Given the description of an element on the screen output the (x, y) to click on. 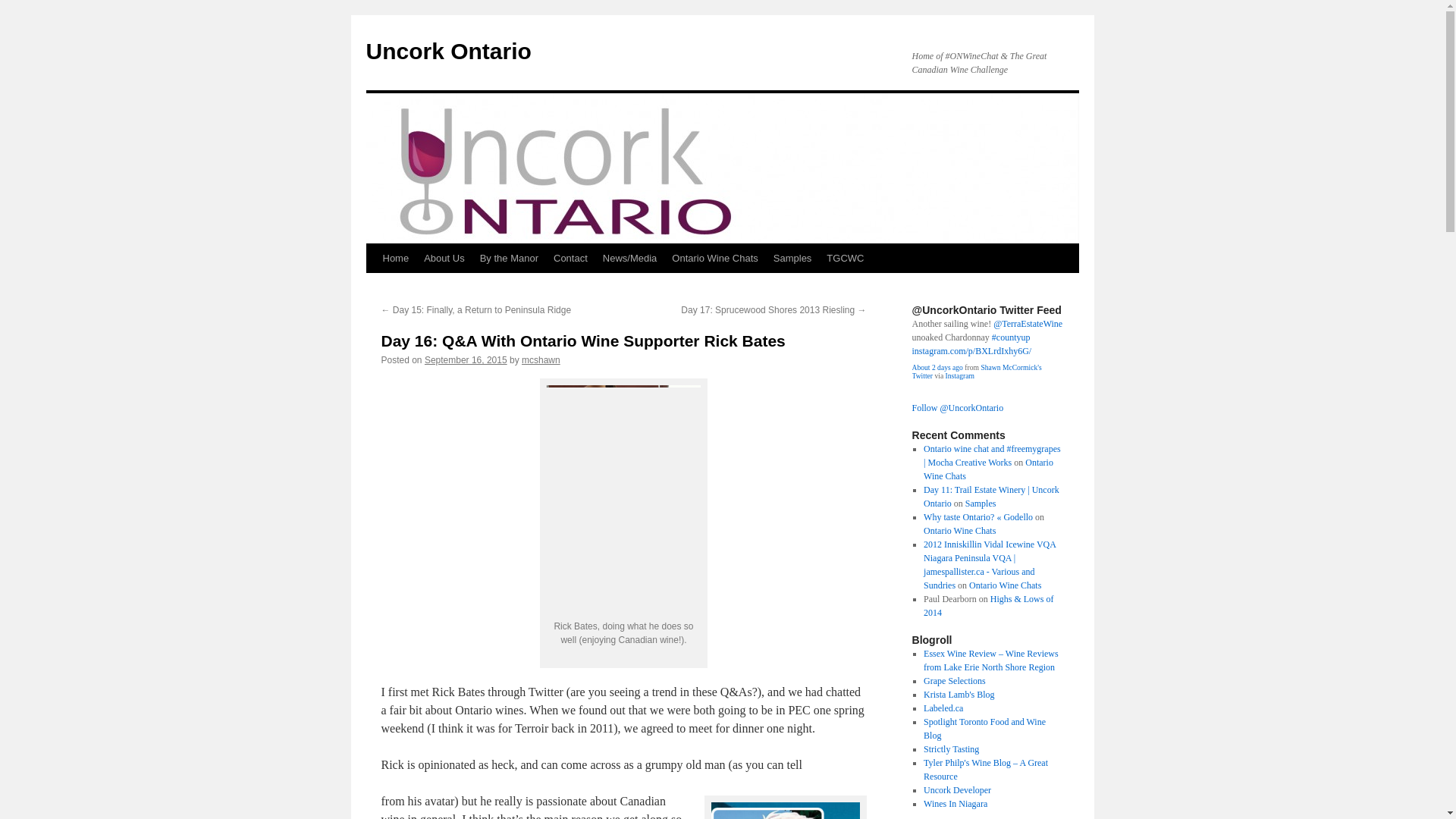
Shawn McCormick (976, 371)
Samples (792, 258)
About 2 days ago (936, 367)
5:16 pm (465, 359)
Ontario Wine Chats (714, 258)
View all posts by mcshawn (540, 359)
TGCWC (844, 258)
mcshawn (540, 359)
September 16, 2015 (465, 359)
Uncork Ontario (448, 50)
